Given the description of an element on the screen output the (x, y) to click on. 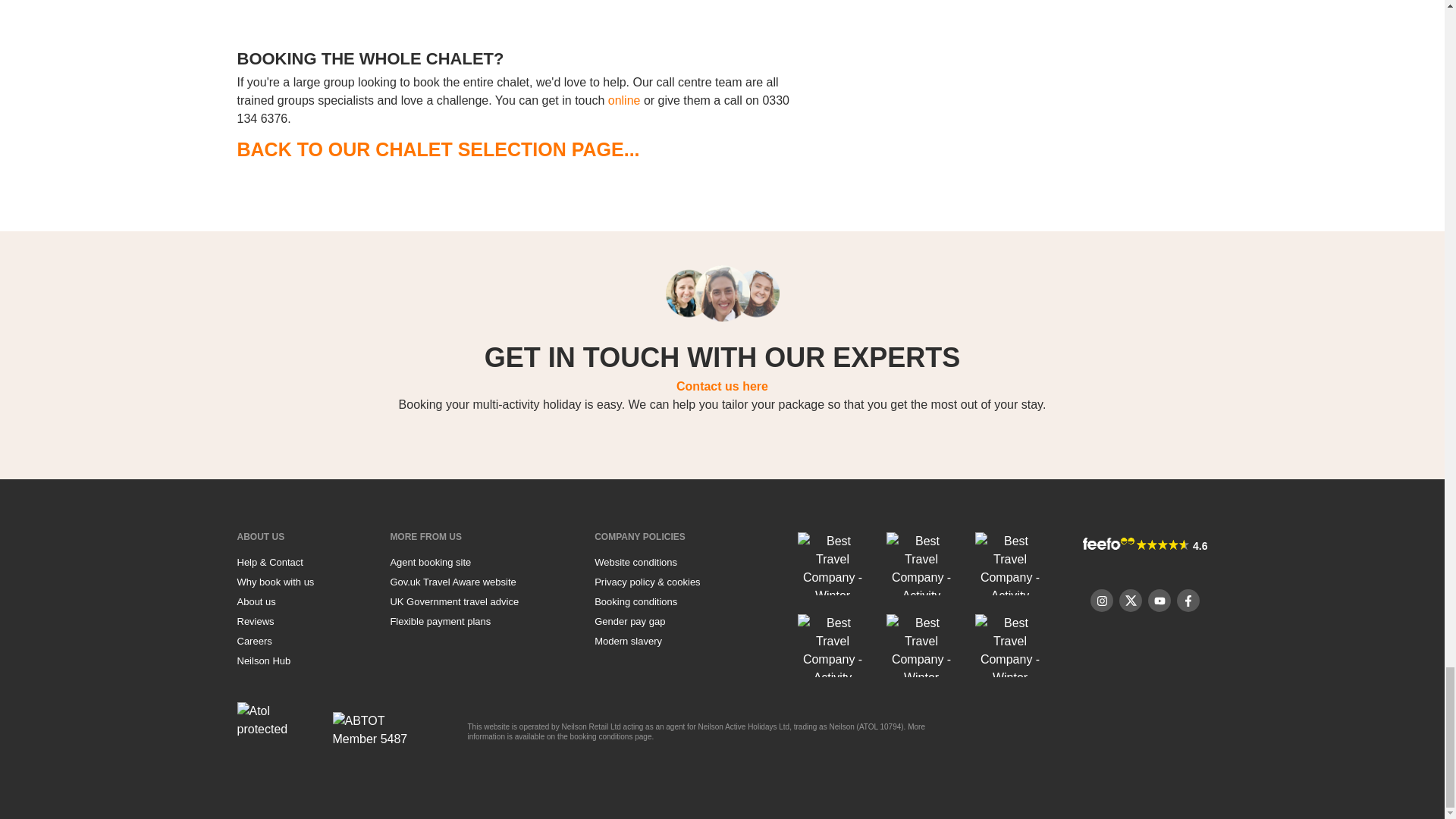
Why book with Neilson (274, 582)
Useful information to help with your holiday (425, 536)
Find the answers to what you need or how to contact us (268, 562)
Find Inspirational articles about our holidays (262, 660)
Neilson holidays Feefo reviews (254, 621)
Information about Neilson (259, 536)
Come and work for us (252, 641)
